Given the description of an element on the screen output the (x, y) to click on. 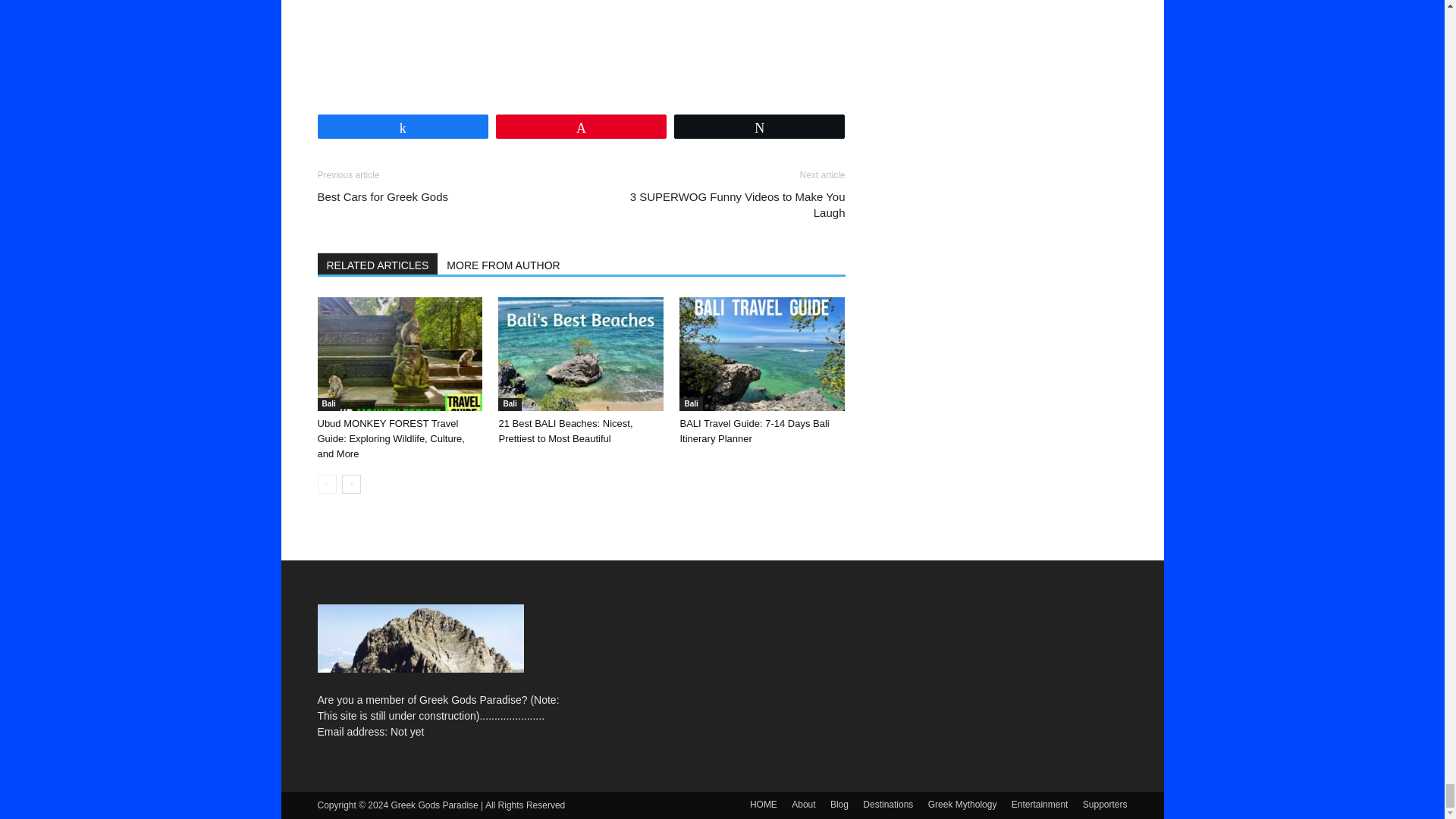
21 Best BALI Beaches: Nicest, Prettiest to Most Beautiful (580, 354)
